Given the description of an element on the screen output the (x, y) to click on. 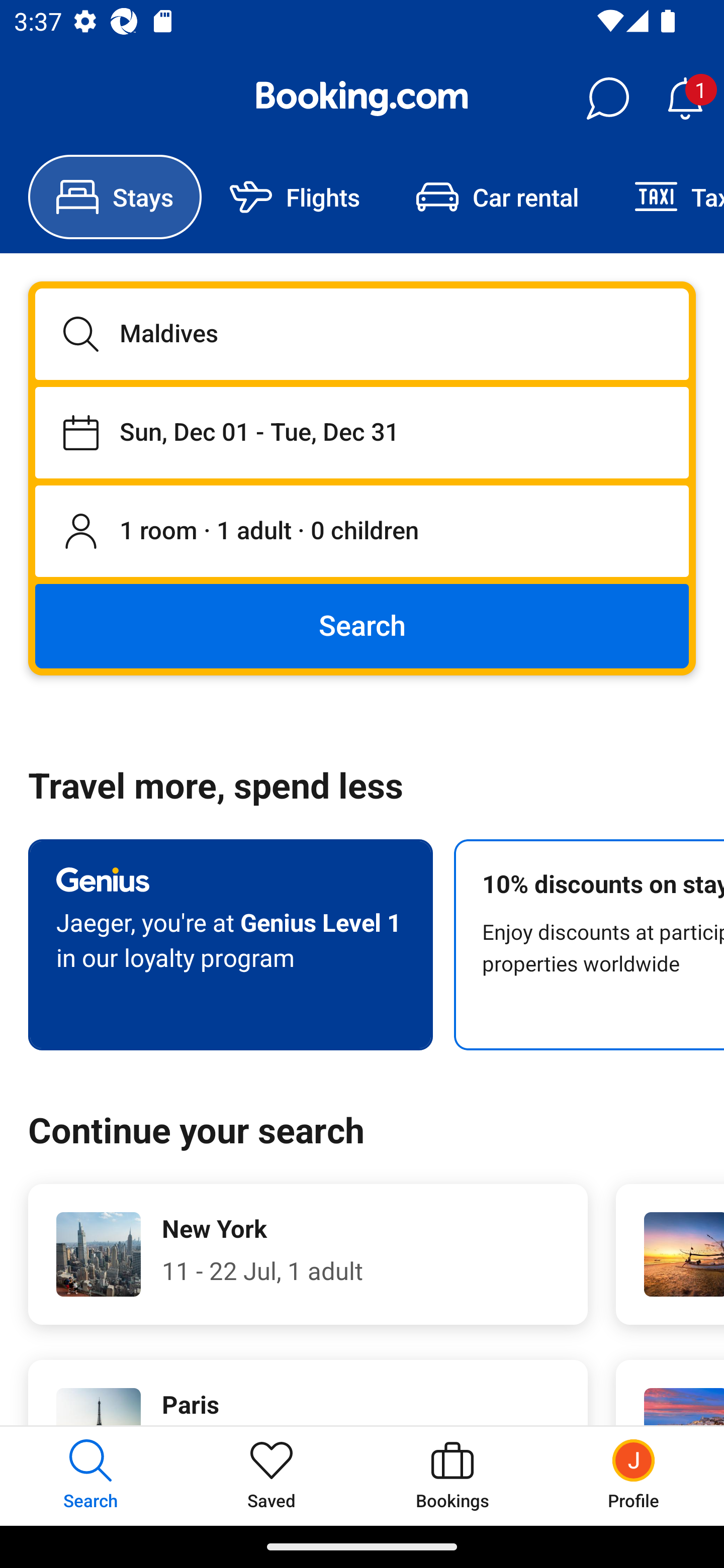
Messages (607, 98)
Notifications (685, 98)
Stays (114, 197)
Flights (294, 197)
Car rental (497, 197)
Taxi (665, 197)
Maldives (361, 333)
Staying from Sun, Dec 01 until Tue, Dec 31 (361, 432)
1 room, 1 adult, 0 children (361, 531)
Search (361, 625)
New York 11 - 22 Jul, 1 adult (307, 1253)
Saved (271, 1475)
Bookings (452, 1475)
Profile (633, 1475)
